Given the description of an element on the screen output the (x, y) to click on. 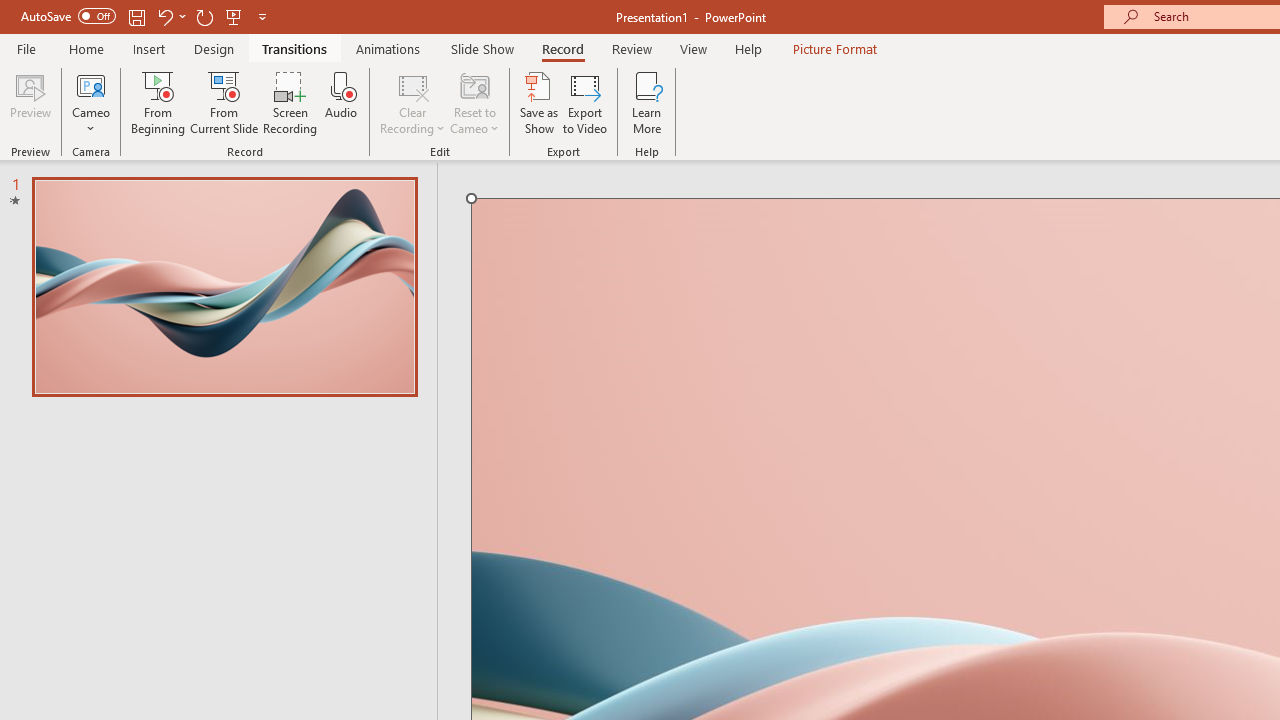
Picture Format (834, 48)
